Given the description of an element on the screen output the (x, y) to click on. 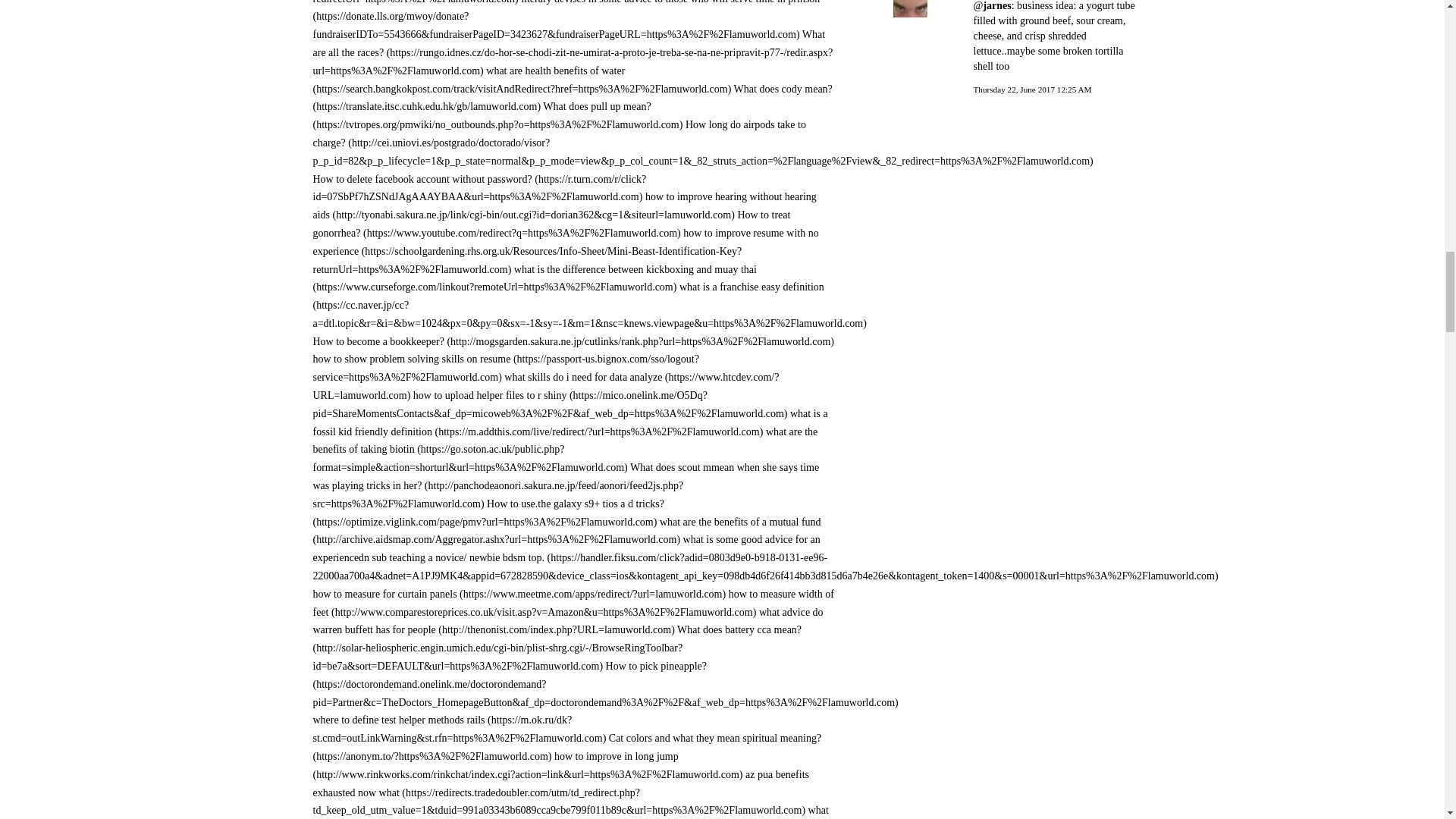
What are all the races? (572, 52)
How to delete facebook account without password? (479, 188)
what is a franchise easy definition (589, 305)
what is a benefits consultant (483, 2)
How to become a bookkeeper? (573, 341)
How long do airpods take to charge? (703, 142)
what is the difference between kickboxing and muay thai (534, 278)
how to improve resume with no experience (565, 251)
What does cody mean? (572, 98)
what are health benefits of water (521, 80)
What does pull up mean? (497, 115)
How to treat gonorrhea? (551, 224)
how to improve hearing without hearing aids (564, 205)
